Given the description of an element on the screen output the (x, y) to click on. 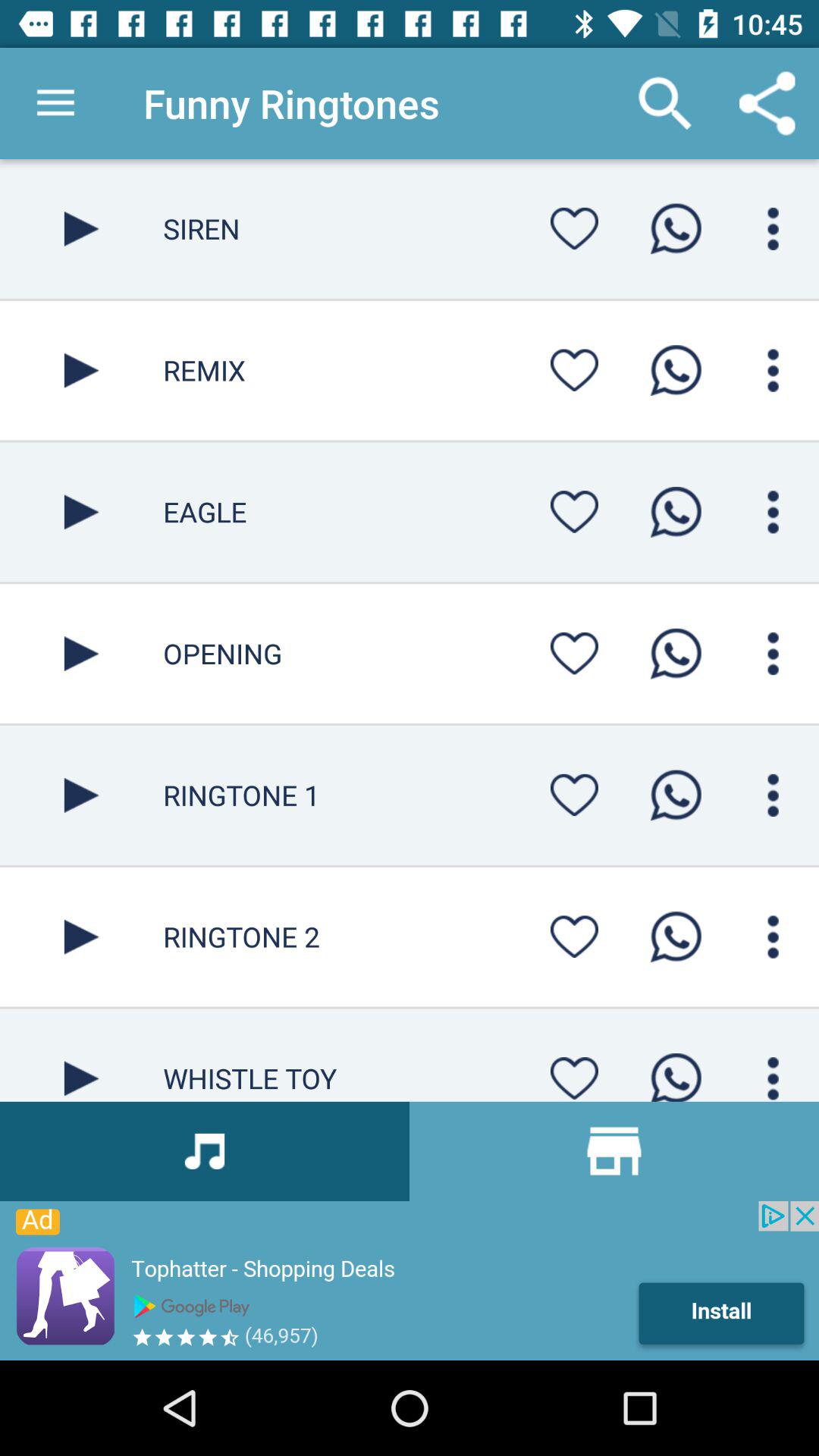
like button (574, 653)
